Given the description of an element on the screen output the (x, y) to click on. 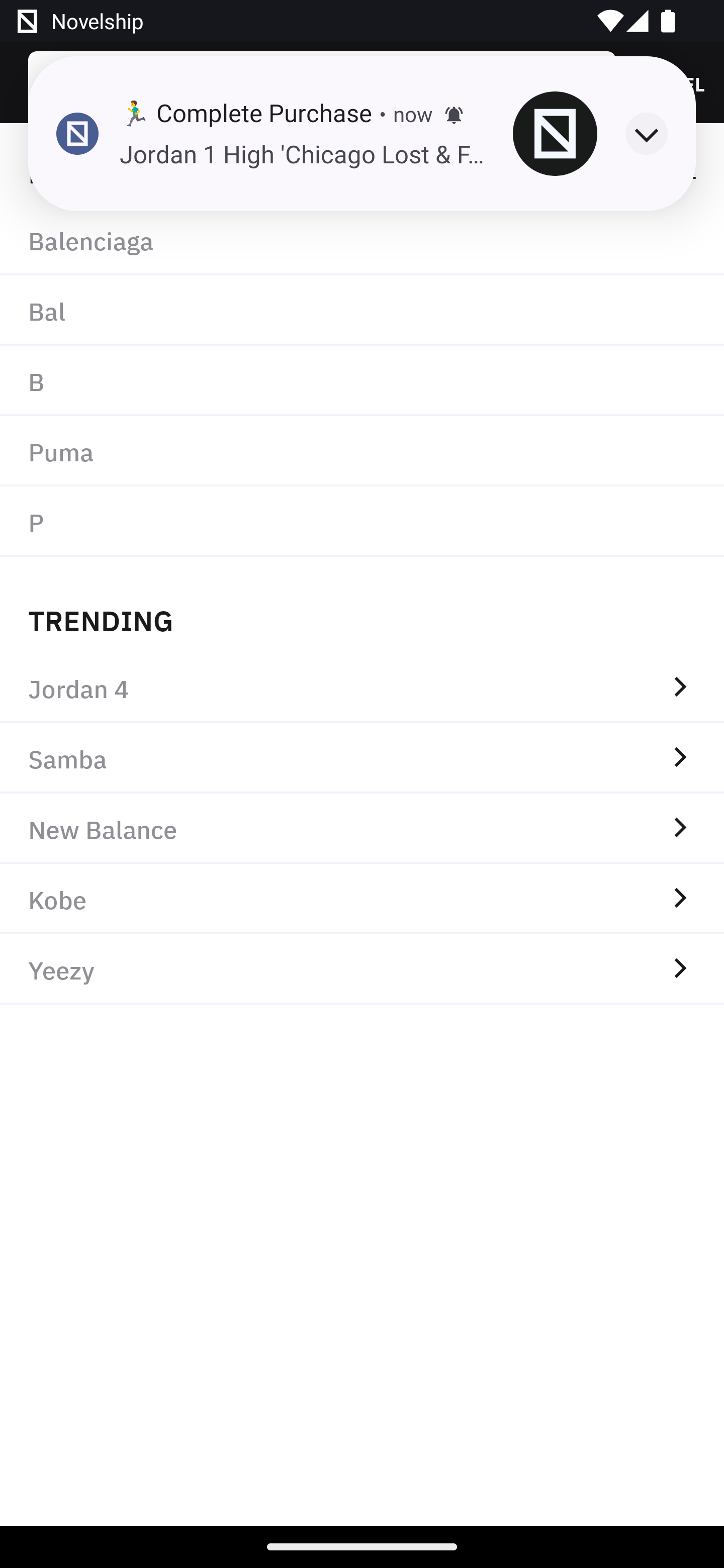
Balenciaga (362, 240)
Bal (362, 310)
B (362, 380)
Puma (362, 450)
P (362, 521)
Jordan 4  (362, 687)
Samba  (362, 757)
New Balance  (362, 828)
Kobe  (362, 898)
Yeezy  (362, 969)
